Given the description of an element on the screen output the (x, y) to click on. 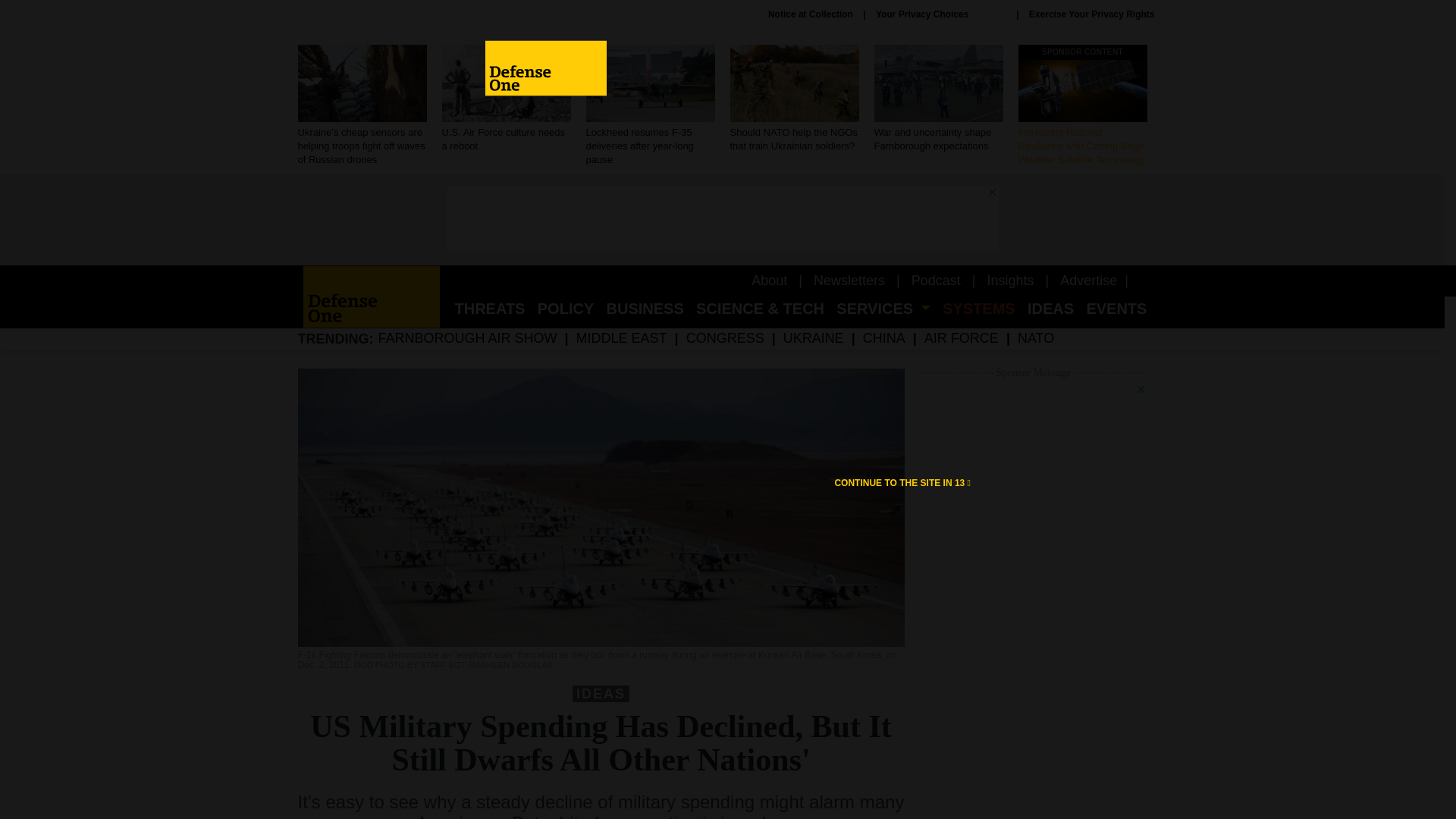
Should NATO help the NGOs that train Ukrainian soldiers? (794, 99)
Newsletters (849, 280)
Podcast (935, 280)
About (769, 280)
U.S. Air Force culture needs a reboot (505, 99)
Lockheed resumes F-35 deliveries after year-long pause (649, 106)
Exercise Your Privacy Rights (1091, 14)
CONTINUE TO THE SITE IN 13 (902, 482)
Advertise (1087, 280)
3rd party ad content (721, 219)
Insights (1010, 280)
Notice at Collection (810, 14)
Your Privacy Choices (941, 14)
